Given the description of an element on the screen output the (x, y) to click on. 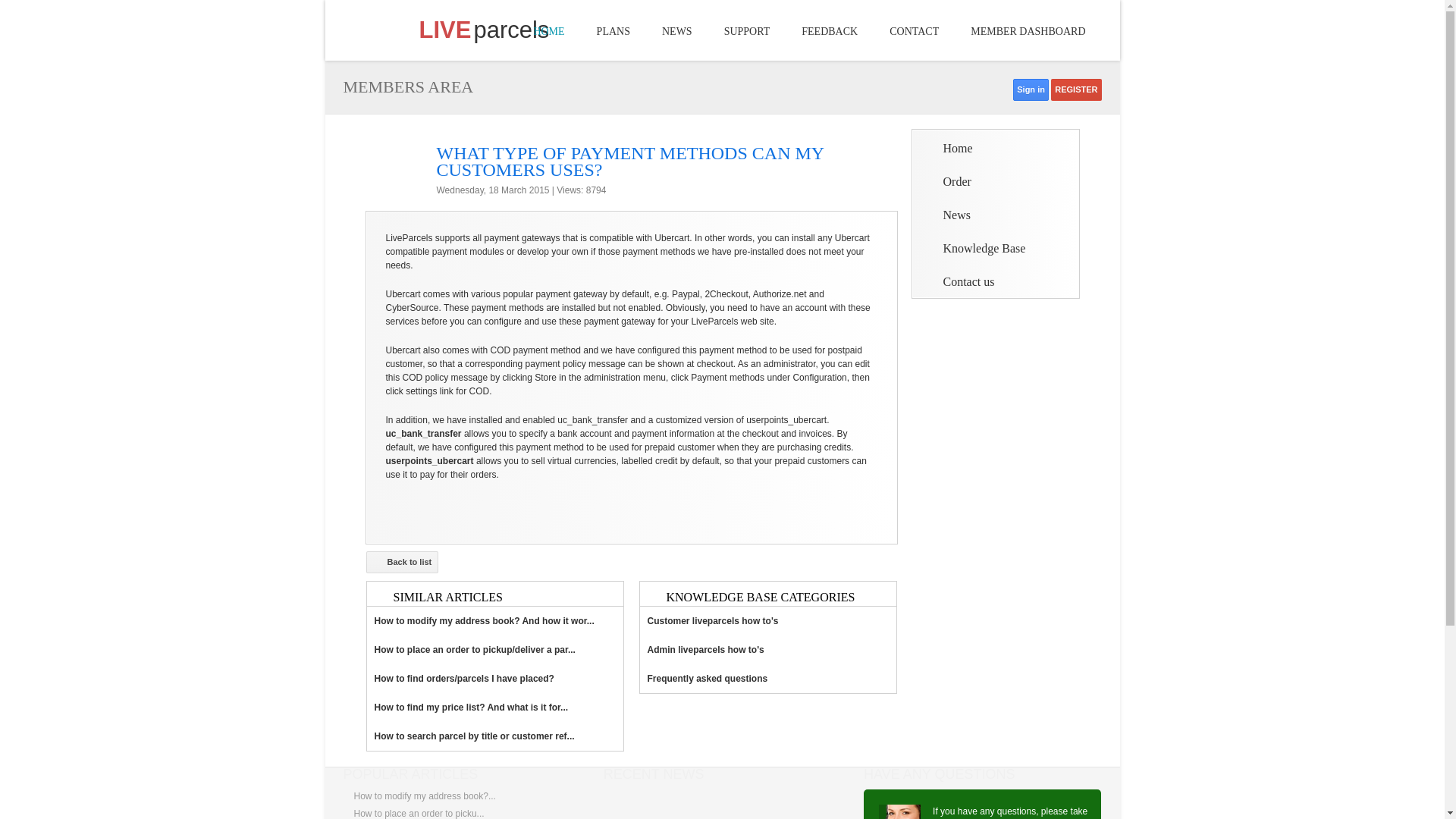
How to find my price list? And what is it for... (494, 706)
News (946, 214)
MEMBER DASHBOARD (1027, 29)
PLANS (612, 29)
Frequently asked questions (768, 678)
How to place an order to picku... (418, 813)
CONTACT (914, 29)
SUPPORT (747, 29)
UC Bank transfer (423, 433)
How to search parcel by title or customer ref... (494, 736)
NEWS (676, 29)
Order (947, 181)
Back to list (401, 562)
How to modify my address book?... (424, 796)
Home (947, 147)
